Given the description of an element on the screen output the (x, y) to click on. 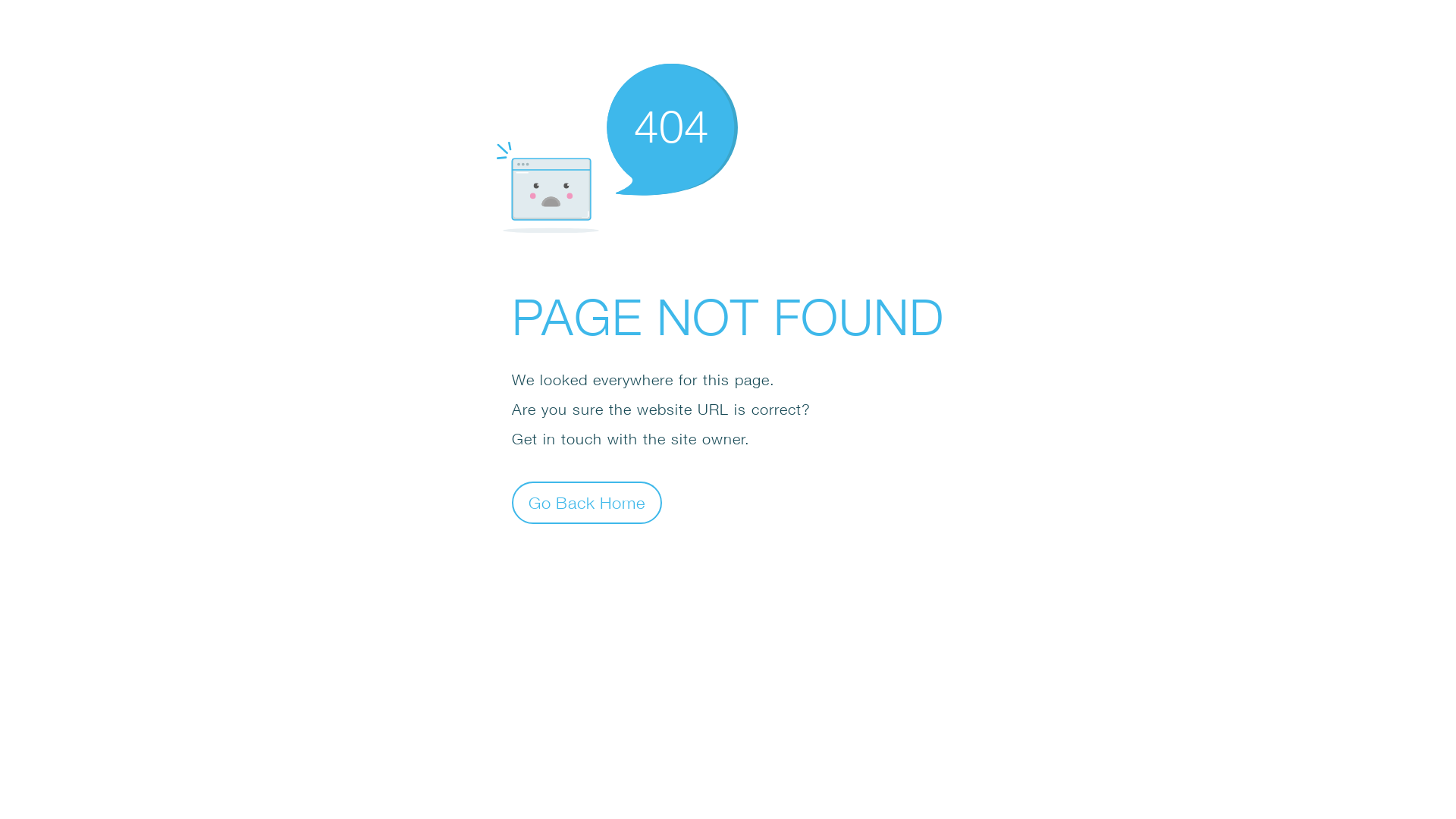
Go Back Home Element type: text (586, 502)
